Given the description of an element on the screen output the (x, y) to click on. 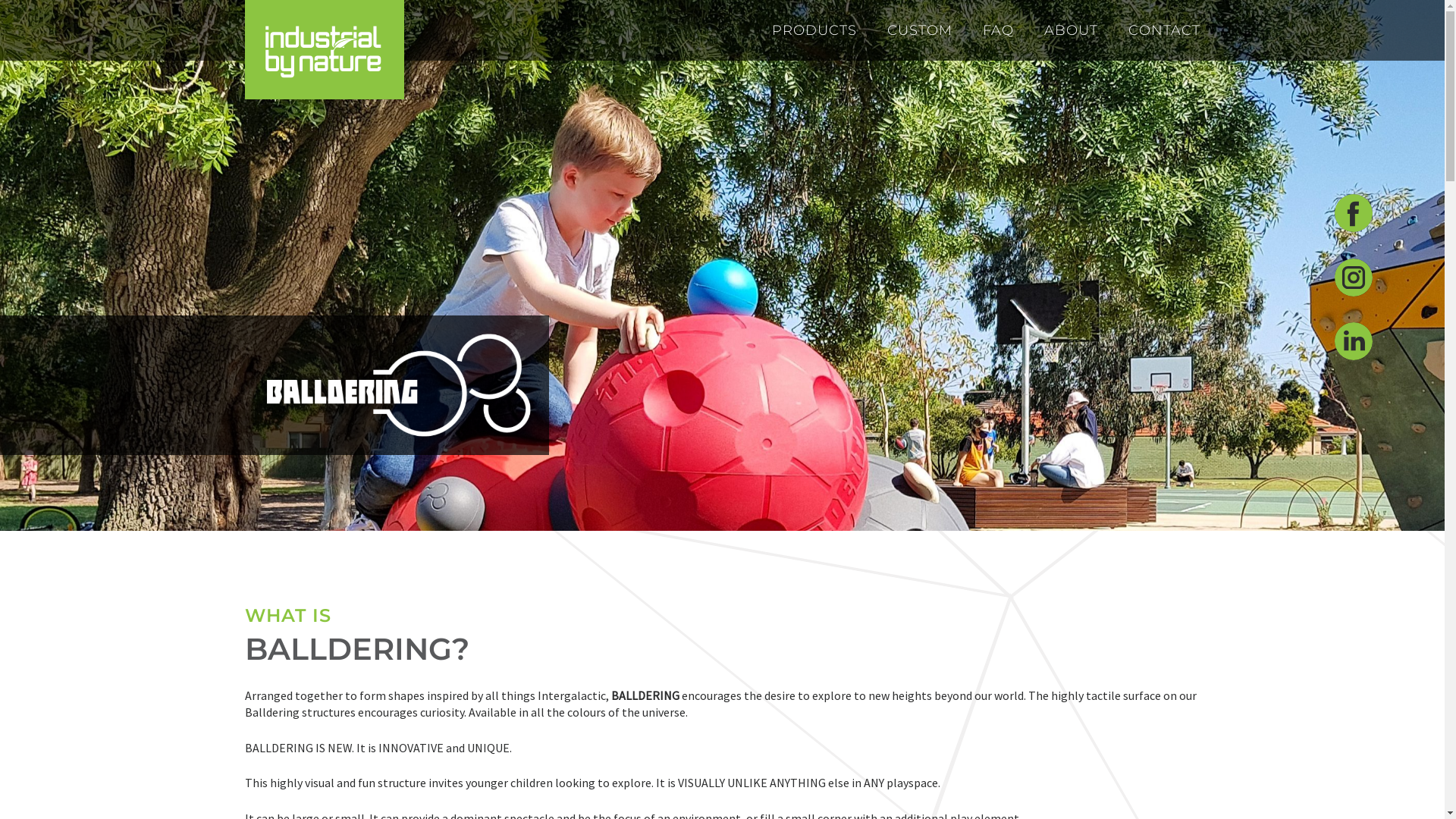
CONTACT Element type: text (1164, 30)
CUSTOM Element type: text (919, 30)
PRODUCTS Element type: text (813, 30)
FAQ Element type: text (997, 30)
ABOUT Element type: text (1070, 30)
